Given the description of an element on the screen output the (x, y) to click on. 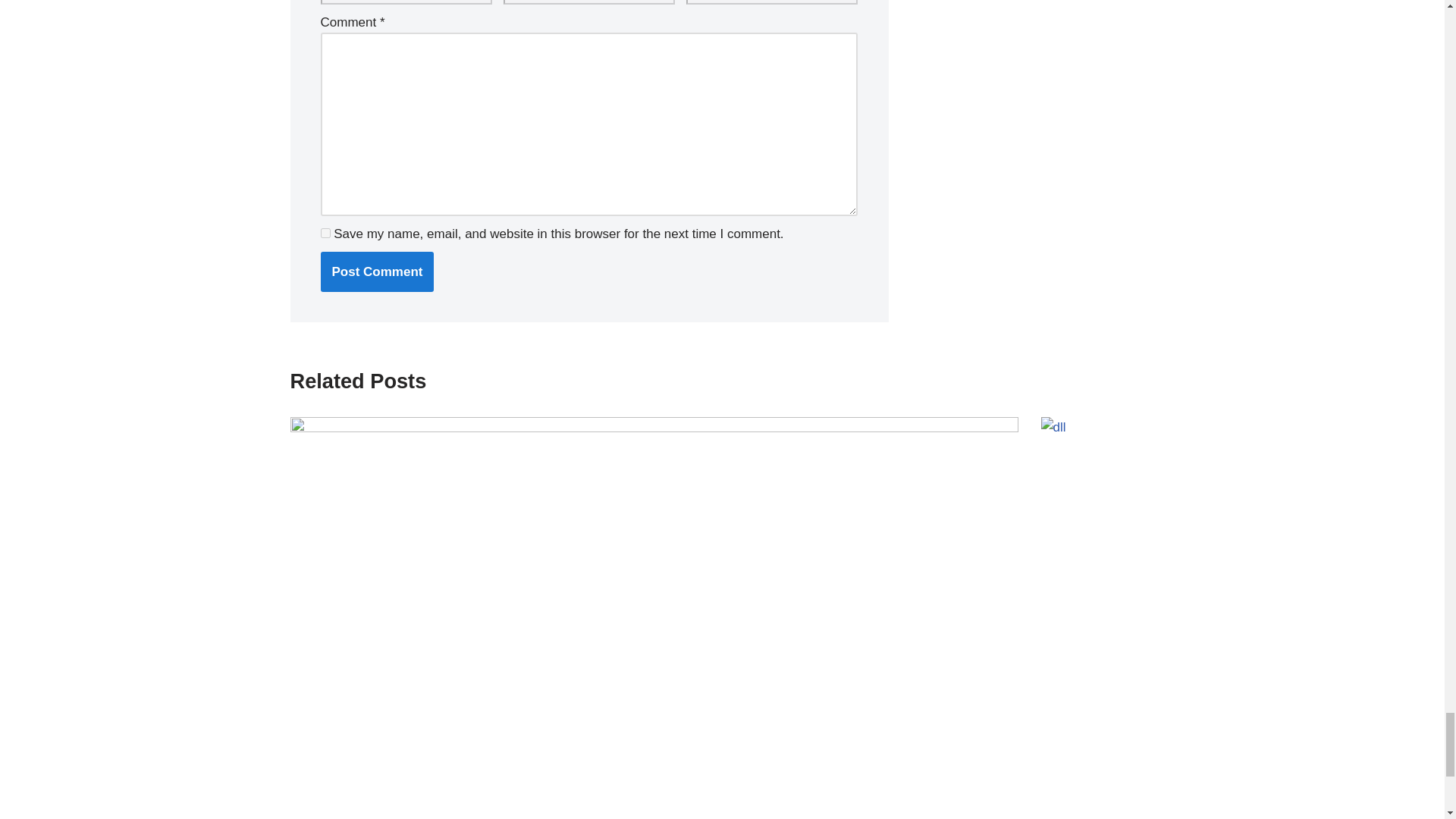
yes (325, 233)
Post Comment (376, 271)
